Given the description of an element on the screen output the (x, y) to click on. 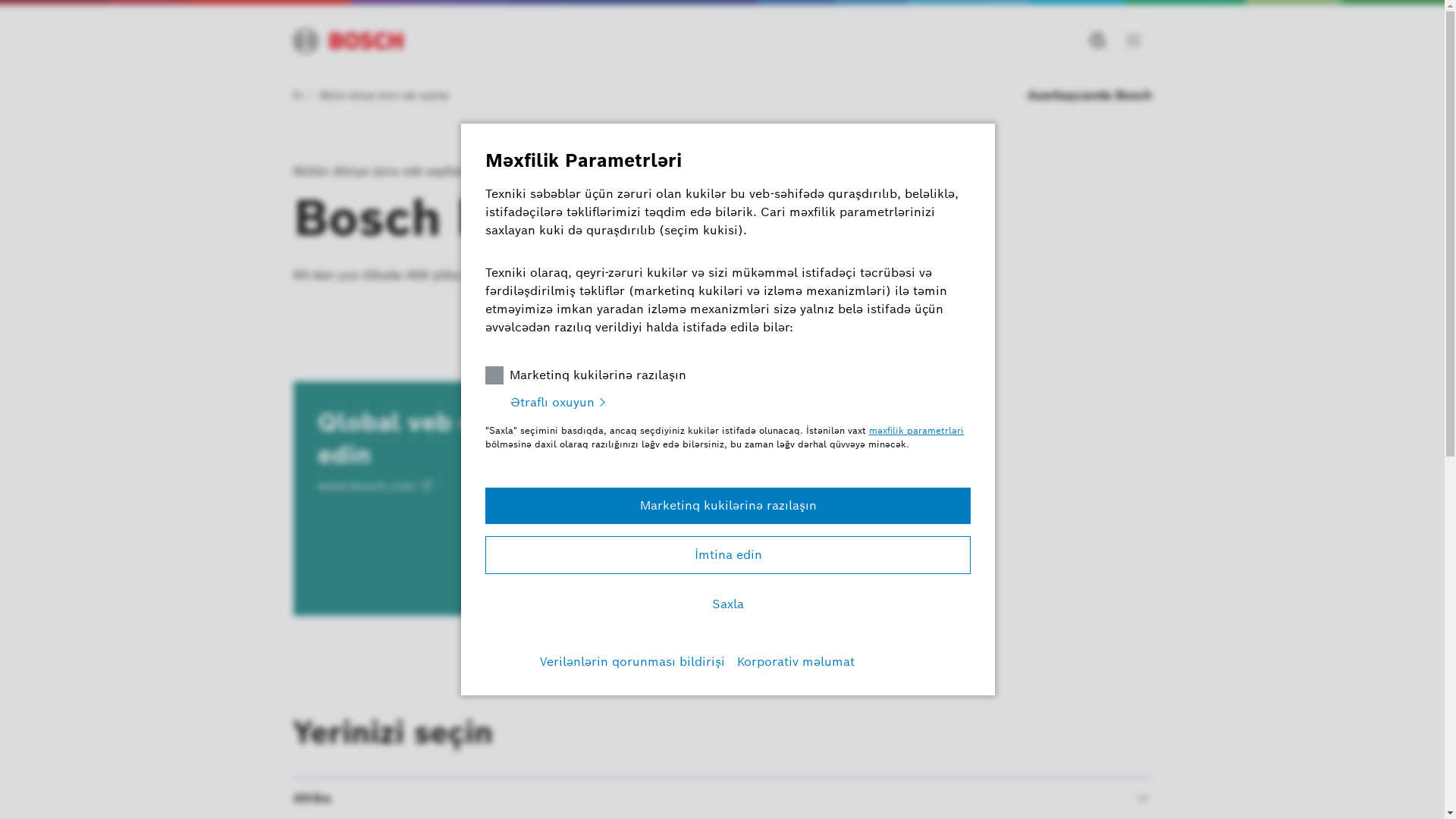
Menyu Element type: hover (1132, 40)
Ev Element type: text (302, 95)
externallink Element type: hover (426, 485)
Show more Element type: hover (1141, 798)
